Given the description of an element on the screen output the (x, y) to click on. 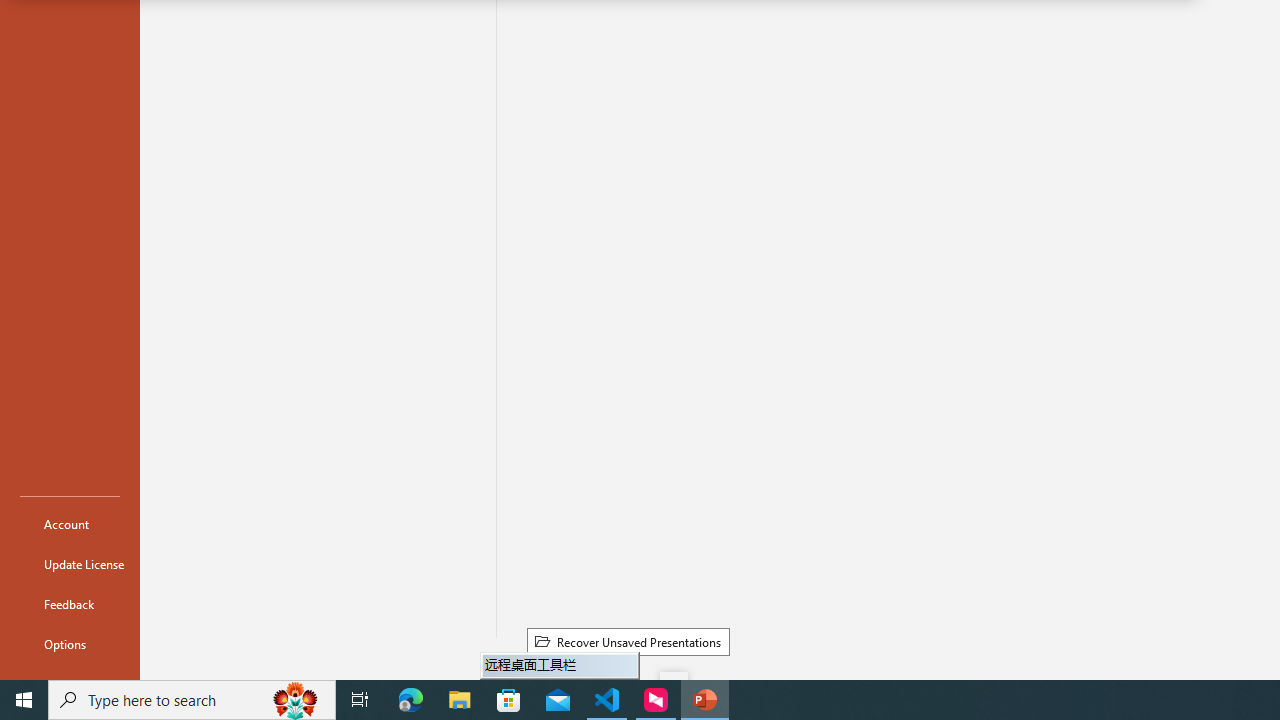
Feedback (69, 603)
Update License (69, 563)
Options (69, 643)
Recover Unsaved Presentations (628, 641)
Account (69, 523)
